Given the description of an element on the screen output the (x, y) to click on. 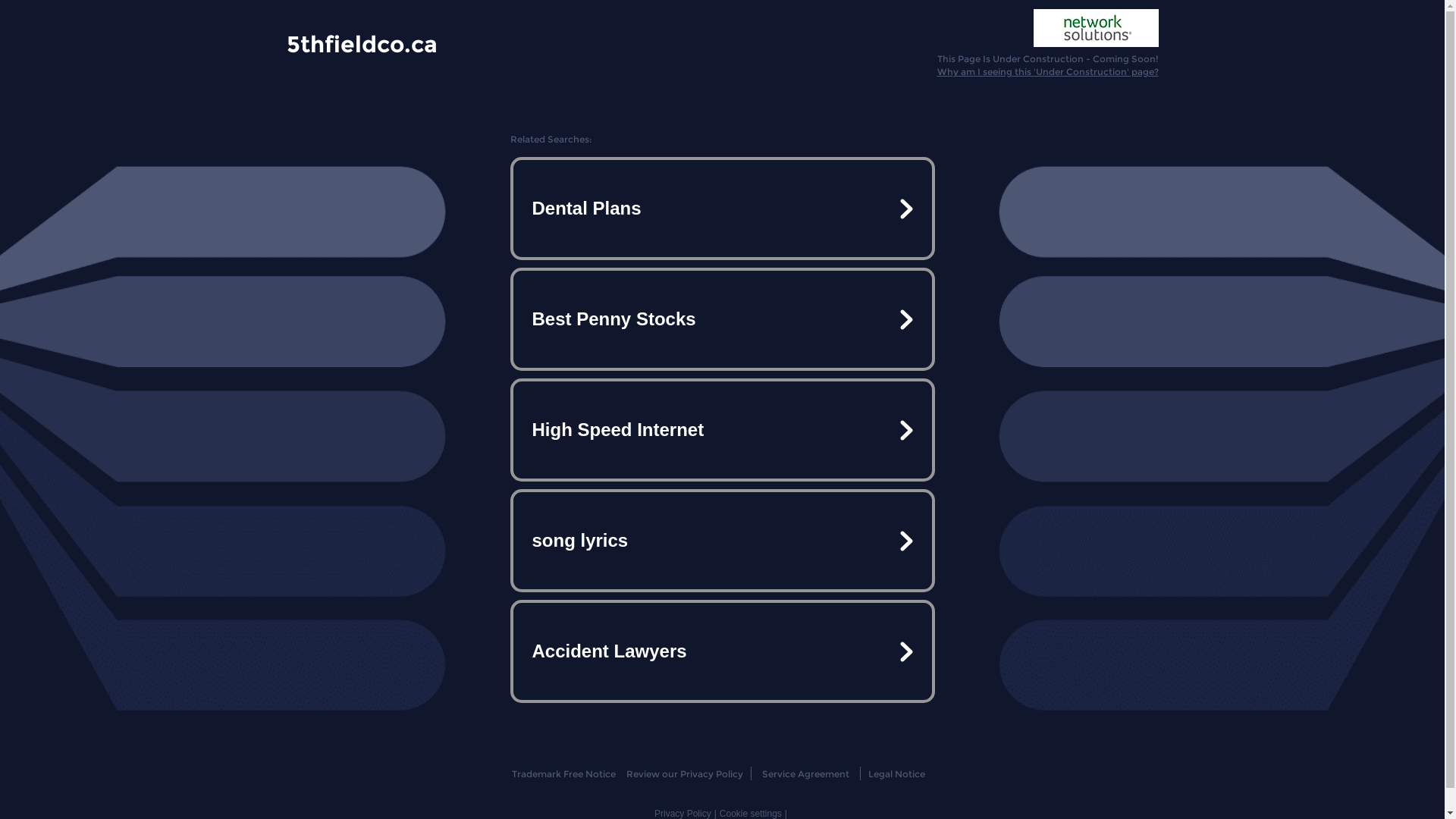
Dental Plans Element type: text (721, 208)
High Speed Internet Element type: text (721, 429)
Trademark Free Notice Element type: text (563, 773)
Best Penny Stocks Element type: text (721, 318)
Accident Lawyers Element type: text (721, 650)
song lyrics Element type: text (721, 540)
Legal Notice Element type: text (896, 773)
5thfieldco.ca Element type: text (361, 43)
Why am I seeing this 'Under Construction' page? Element type: text (1047, 71)
Review our Privacy Policy Element type: text (684, 773)
Service Agreement Element type: text (805, 773)
